Given the description of an element on the screen output the (x, y) to click on. 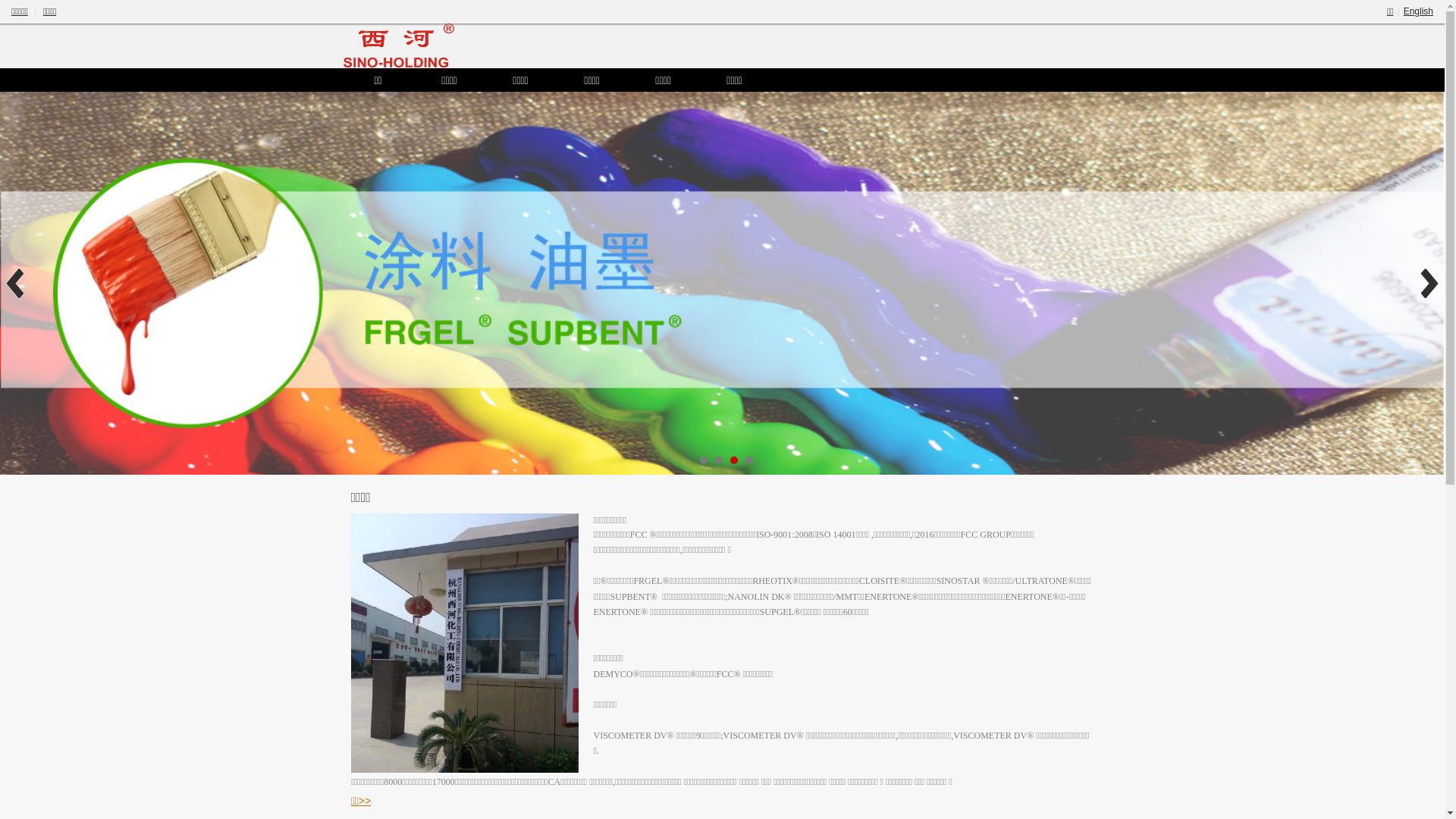
English Element type: text (1418, 11)
